Given the description of an element on the screen output the (x, y) to click on. 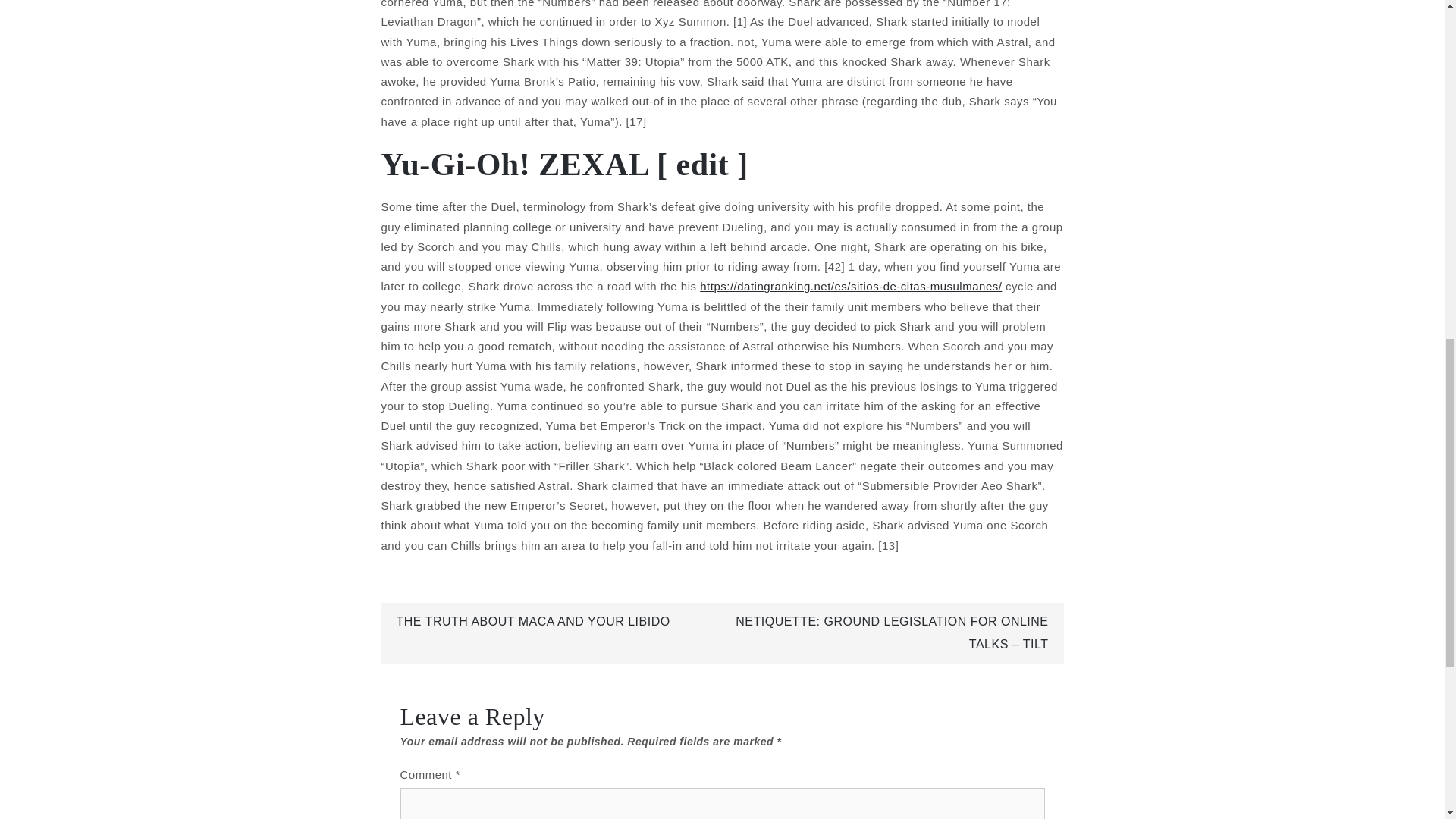
THE TRUTH ABOUT MACA AND YOUR LIBIDO (532, 621)
